Given the description of an element on the screen output the (x, y) to click on. 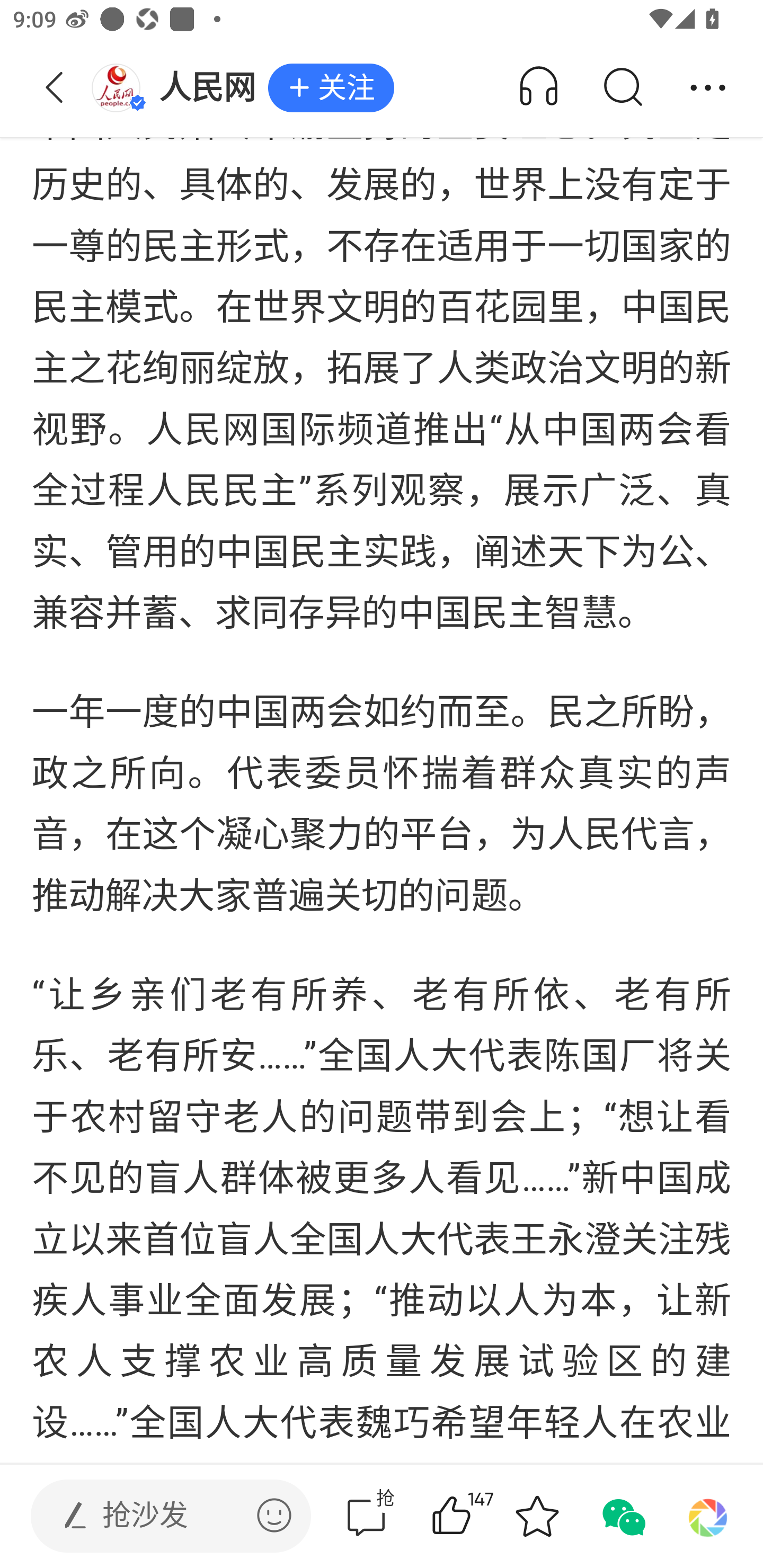
人民网 (179, 87)
搜索  (622, 87)
分享  (707, 87)
 返回 (54, 87)
 关注 (330, 88)
发表评论  抢沙发 发表评论  (155, 1516)
抢评论  抢 评论 (365, 1516)
147赞 (476, 1516)
收藏  (536, 1516)
分享到微信  (622, 1516)
分享到朋友圈 (707, 1516)
 (274, 1515)
